Given the description of an element on the screen output the (x, y) to click on. 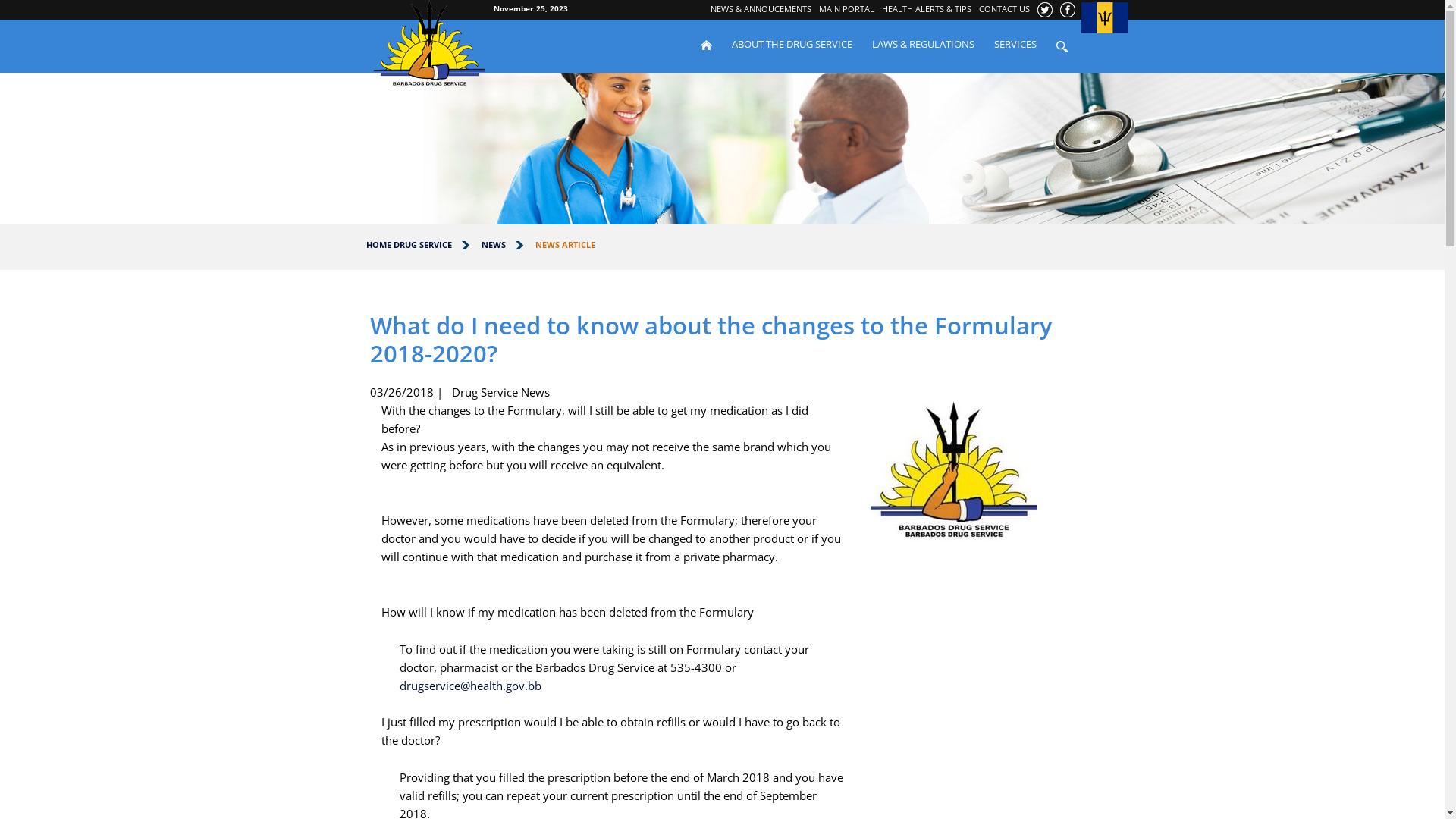
NEWS ARTICLE Element type: text (565, 244)
drugservice@health.gov.bb Element type: text (469, 685)
LAWS & REGULATIONS Element type: text (922, 43)
MAIN PORTAL Element type: text (845, 8)
HOME DRUG SERVICE Element type: text (408, 244)
CONTACT US Element type: text (1004, 8)
HEALTH ALERTS & TIPS Element type: text (926, 8)
ABOUT THE DRUG SERVICE Element type: text (791, 43)
NEWS & ANNOUCEMENTS Element type: text (760, 8)
NEWS Element type: text (492, 244)
SERVICES Element type: text (1015, 43)
